Given the description of an element on the screen output the (x, y) to click on. 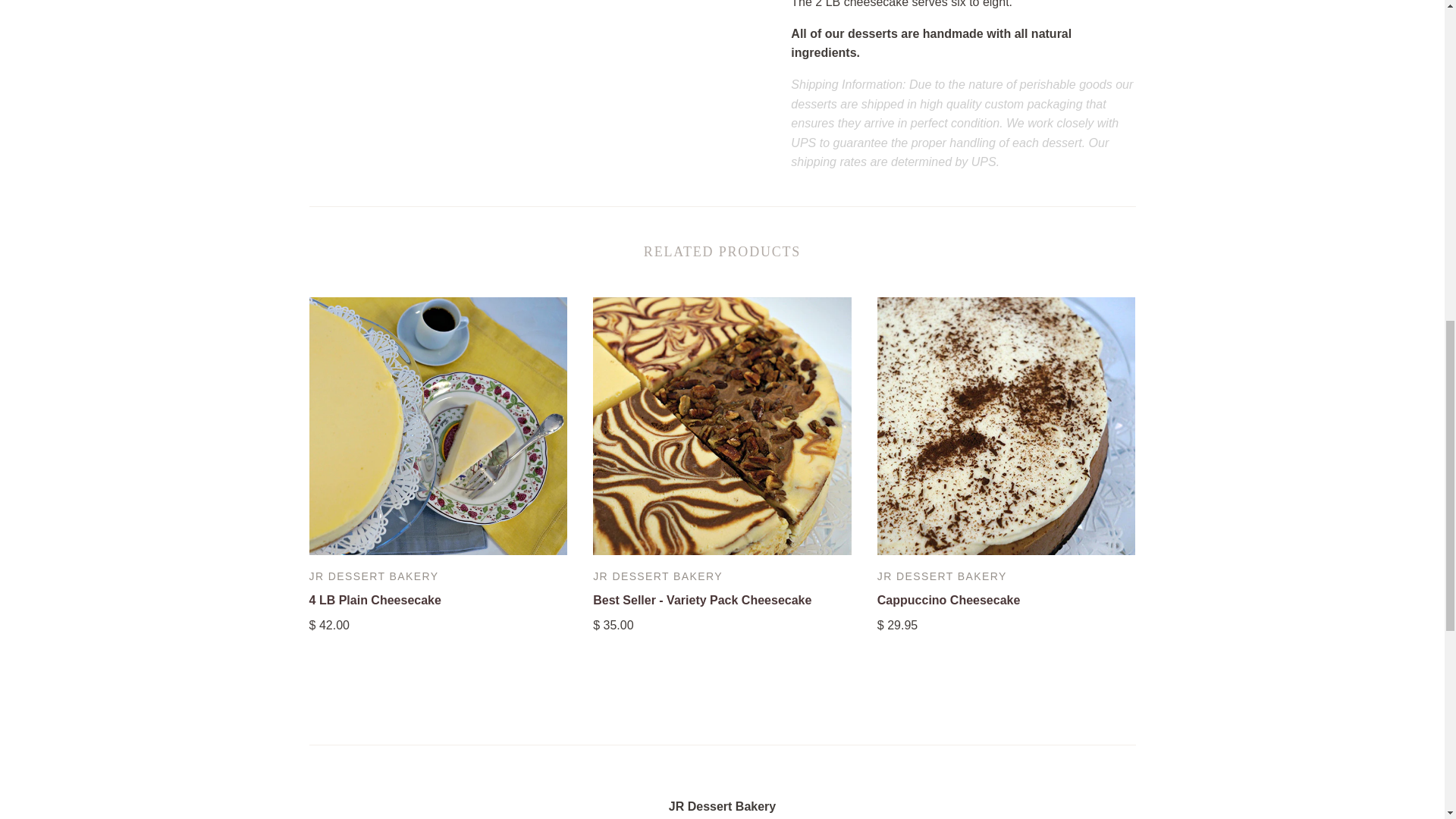
JR DESSERT BAKERY (373, 576)
JR DESSERT BAKERY (657, 576)
4 LB Plain Cheesecake (374, 599)
Best Seller - Variety Pack Cheesecake (701, 599)
Cappuccino Cheesecake (948, 599)
JR DESSERT BAKERY (942, 576)
